Given the description of an element on the screen output the (x, y) to click on. 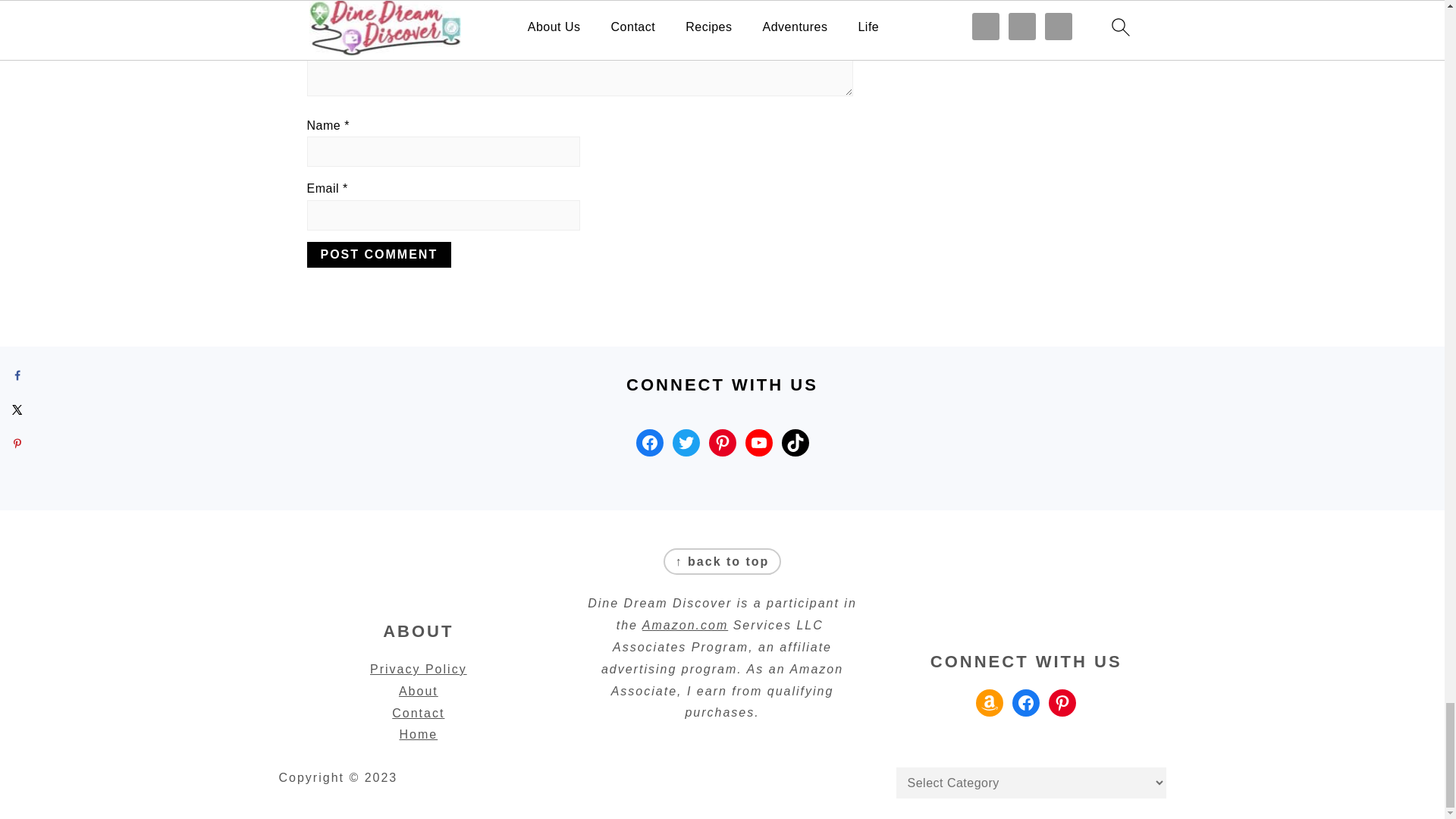
Post Comment (378, 254)
